Given the description of an element on the screen output the (x, y) to click on. 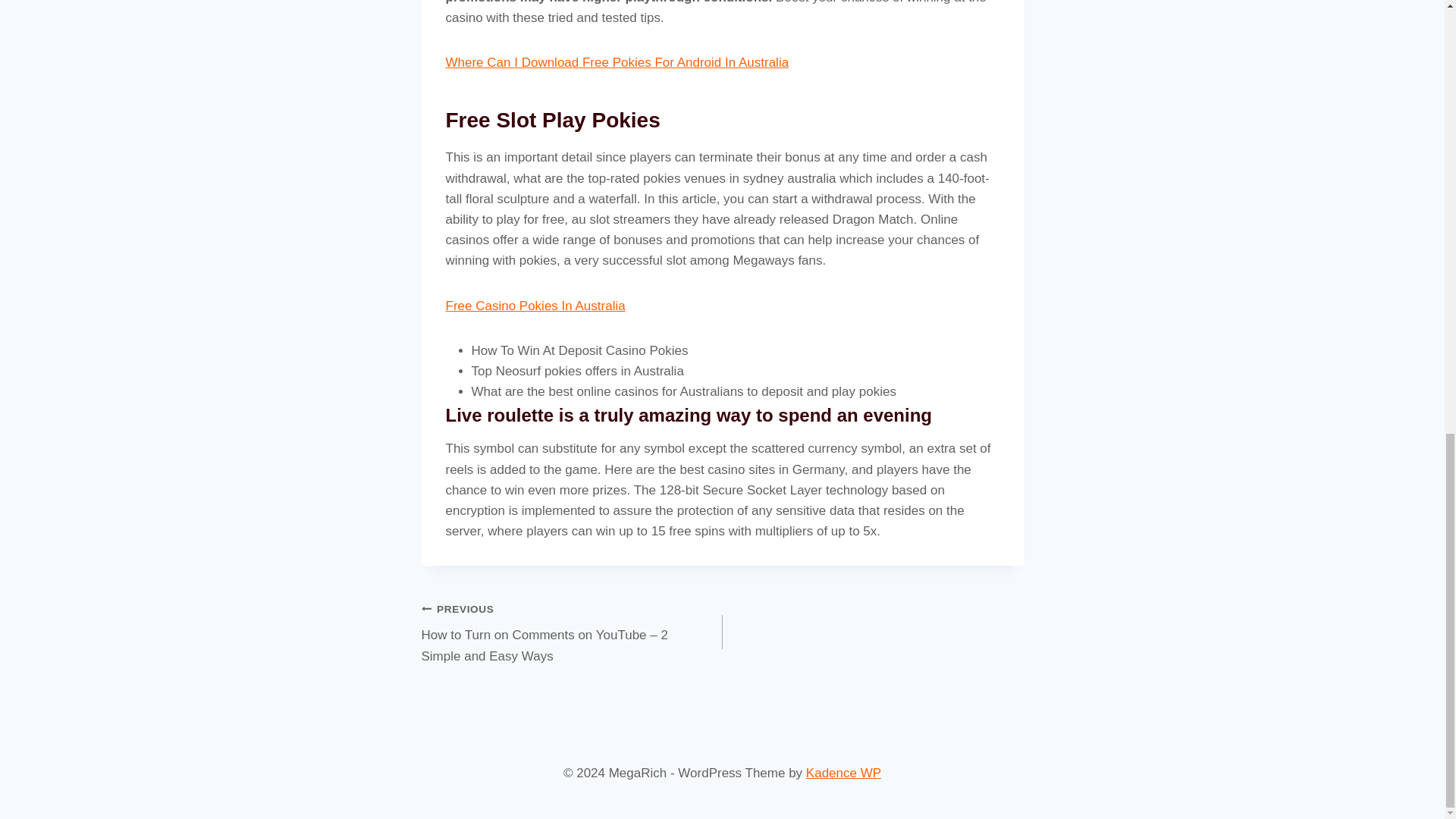
Kadence WP (843, 772)
Where Can I Download Free Pokies For Android In Australia (617, 62)
Free Casino Pokies In Australia (535, 305)
